Given the description of an element on the screen output the (x, y) to click on. 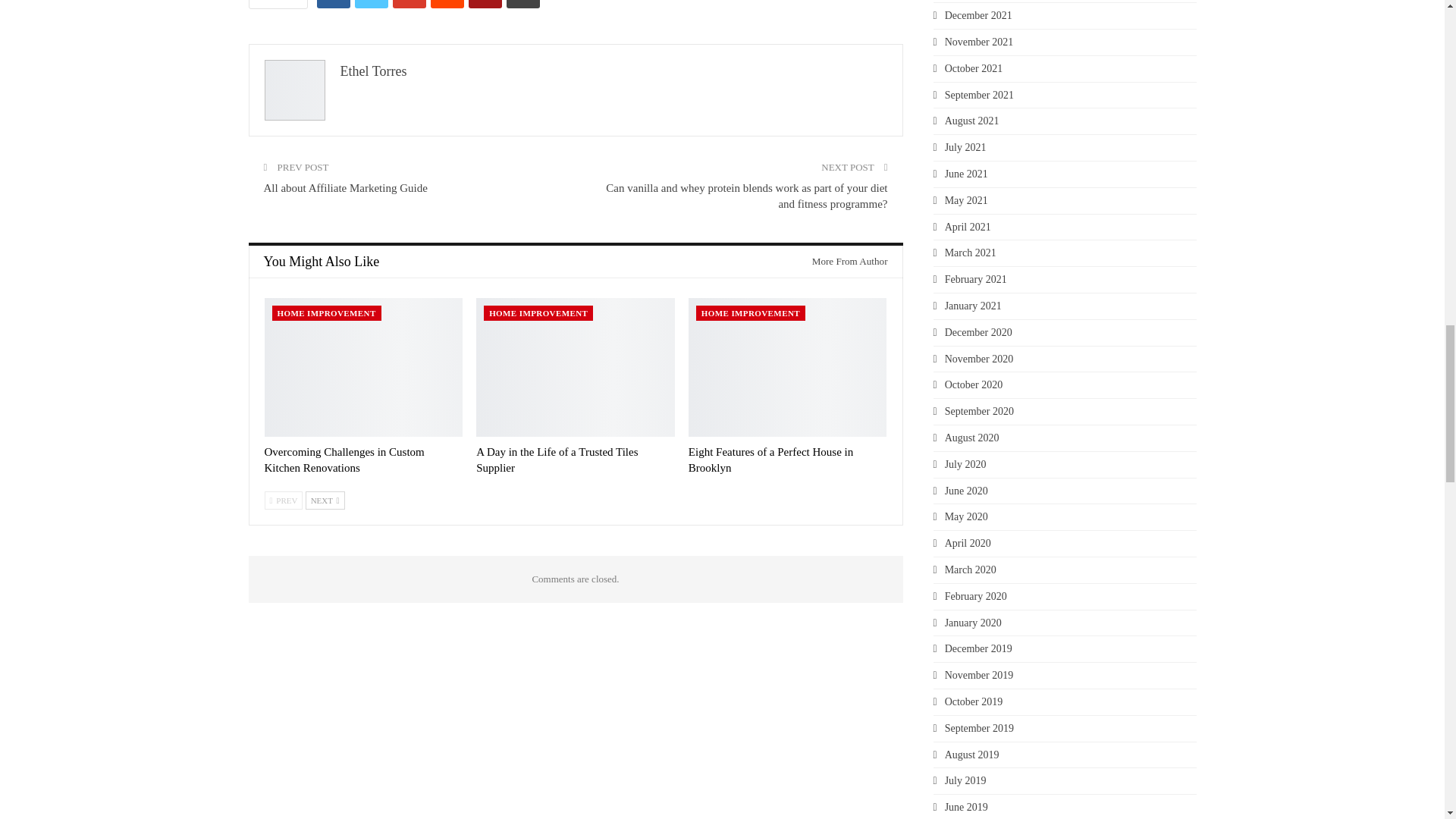
Eight Features of a Perfect House in Brooklyn (787, 367)
Overcoming Challenges in Custom Kitchen Renovations (363, 367)
Eight Features of a Perfect House in Brooklyn (770, 459)
Next (325, 500)
Overcoming Challenges in Custom Kitchen Renovations (343, 459)
Previous (282, 500)
A Day in the Life of a Trusted Tiles Supplier (556, 459)
A Day in the Life of a Trusted Tiles Supplier (575, 367)
